Given the description of an element on the screen output the (x, y) to click on. 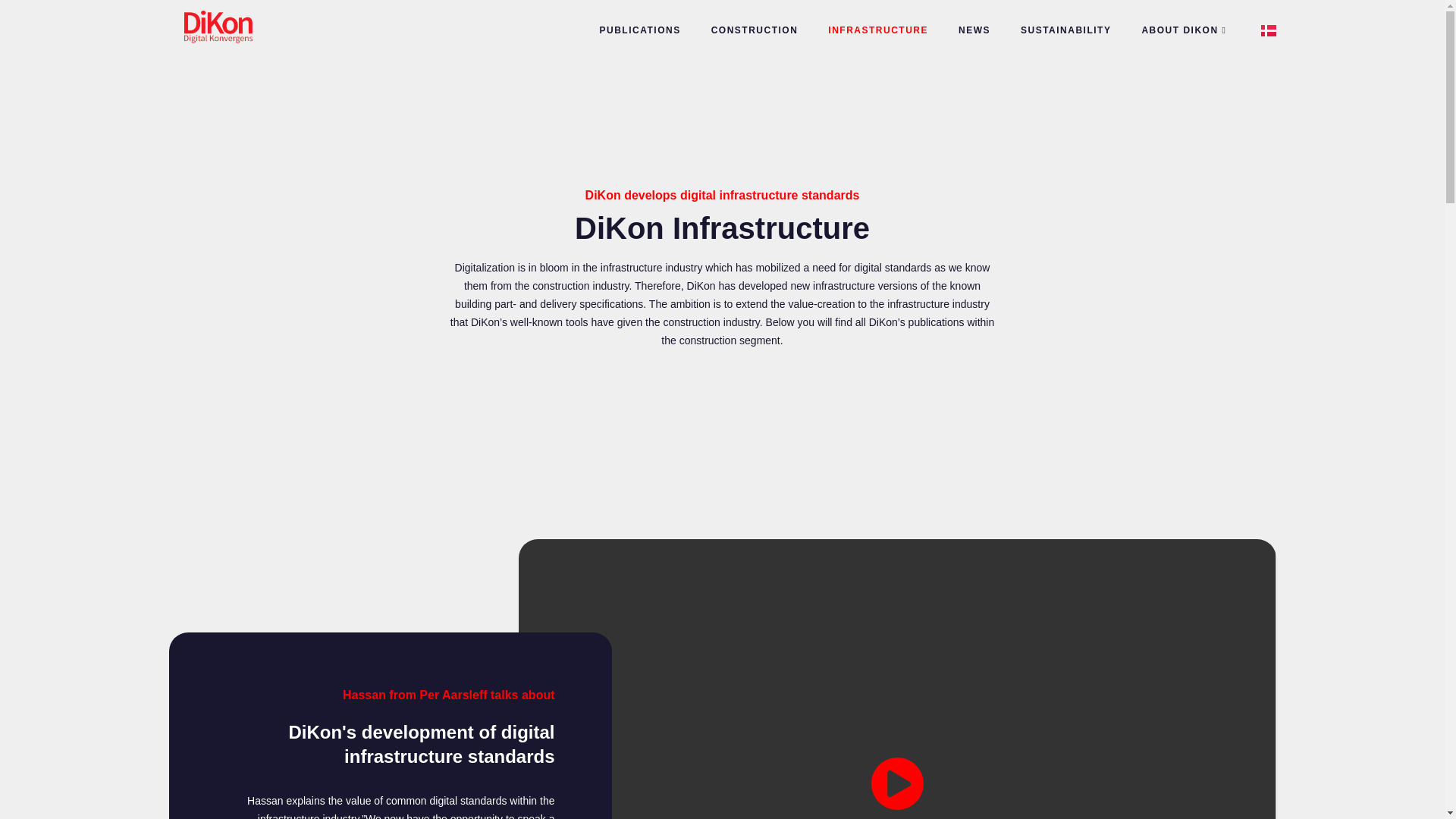
ABOUT DIKON (1184, 30)
SUSTAINABILITY (1065, 30)
CONSTRUCTION (754, 30)
INFRASTRUCTURE (877, 30)
PUBLICATIONS (640, 30)
NEWS (974, 30)
